Given the description of an element on the screen output the (x, y) to click on. 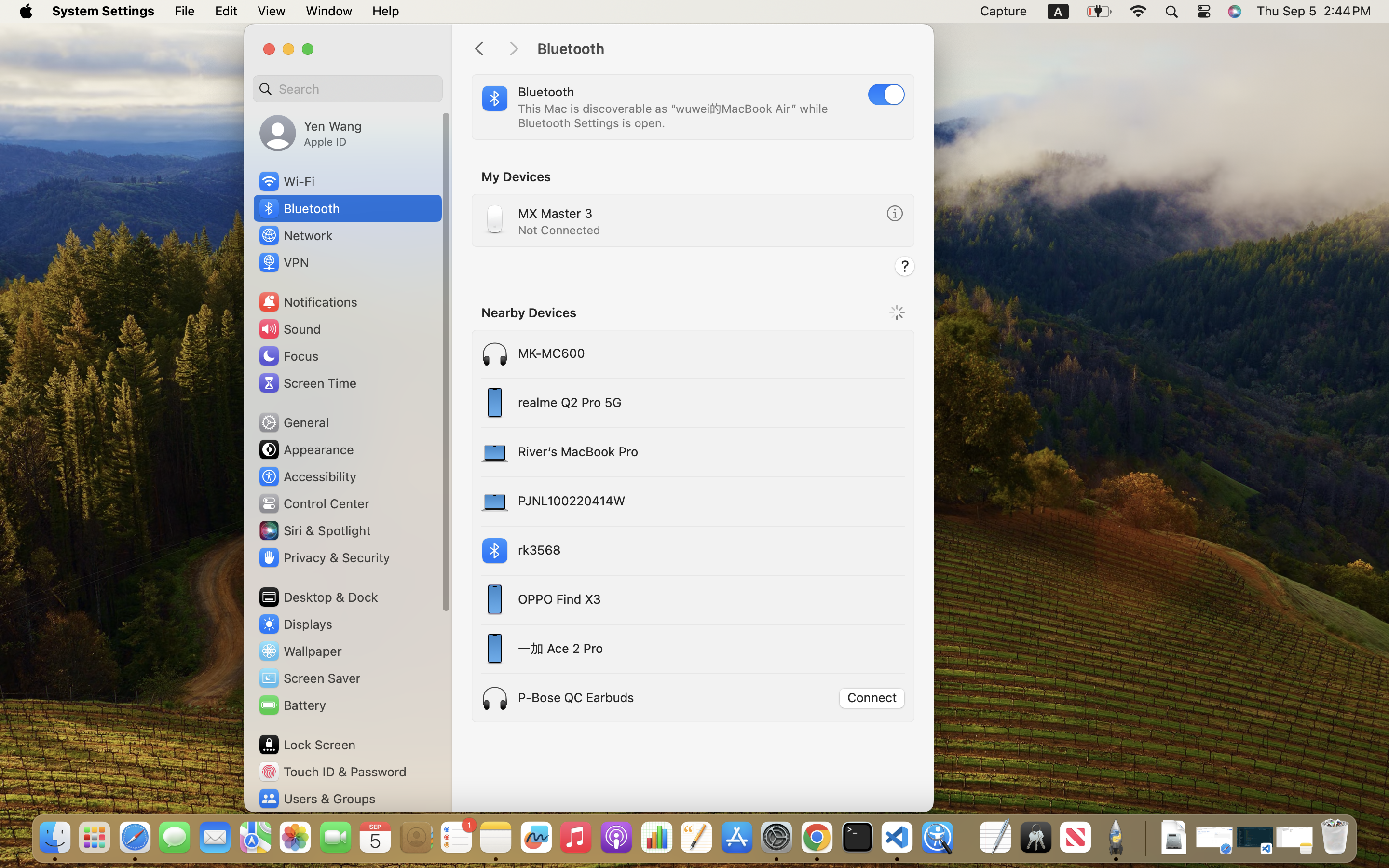
0.4285714328289032 Element type: AXDockItem (965, 837)
Accessibility Element type: AXStaticText (306, 476)
Battery Element type: AXStaticText (291, 704)
rk3568 Element type: AXStaticText (655, 550)
Network Element type: AXStaticText (294, 234)
